Given the description of an element on the screen output the (x, y) to click on. 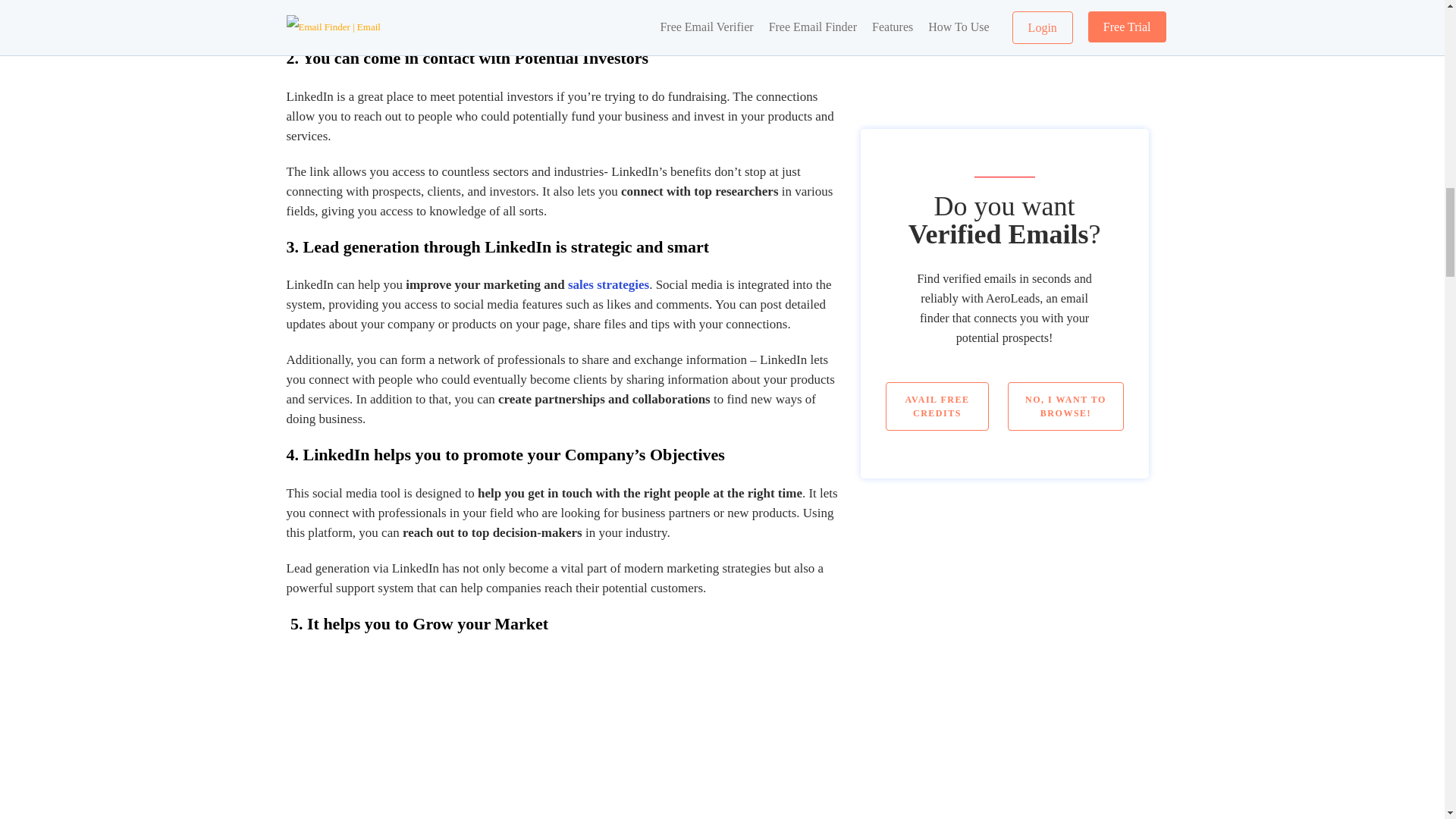
sales strategies (608, 284)
